Given the description of an element on the screen output the (x, y) to click on. 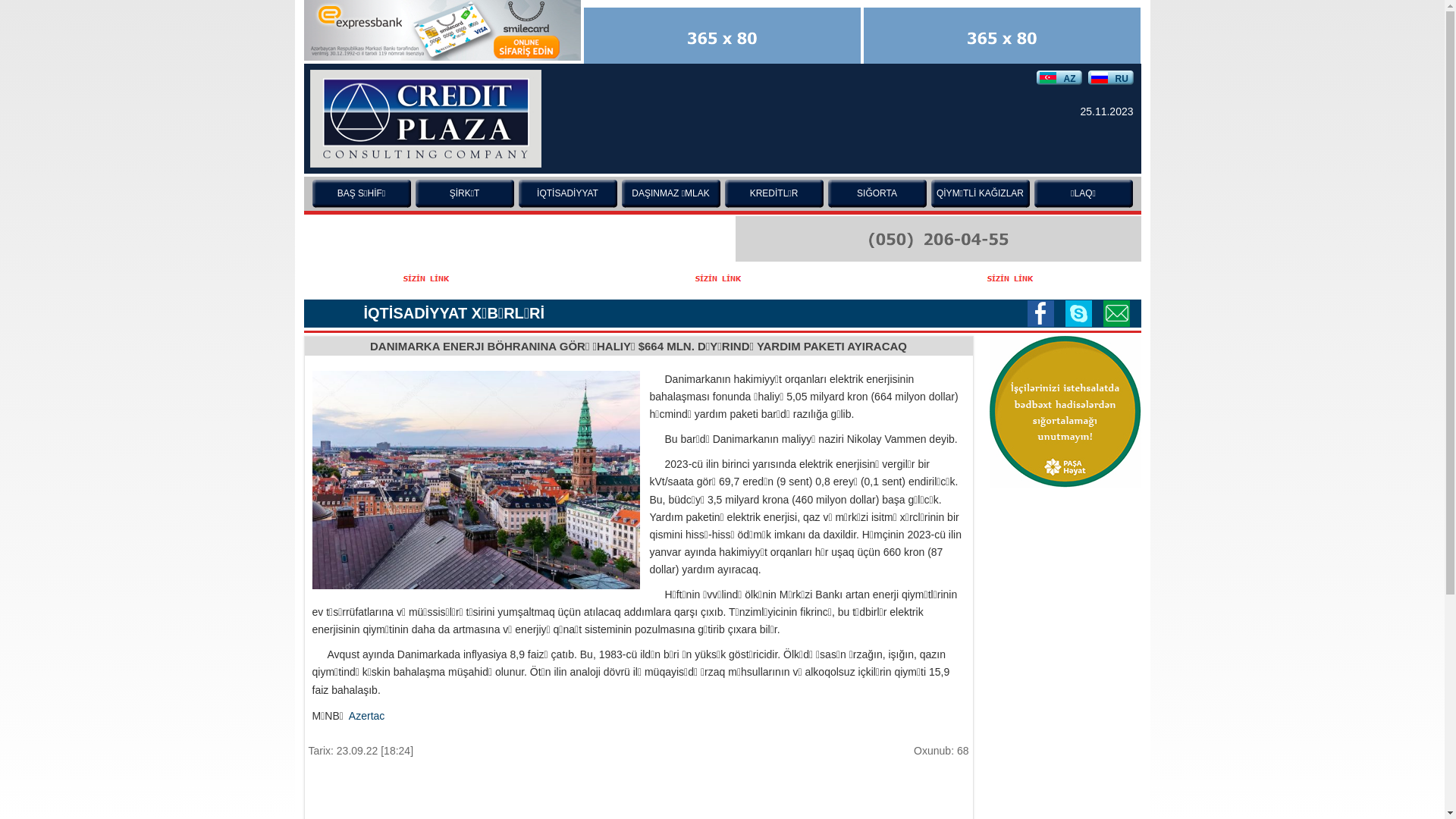
RU Element type: text (1109, 77)
AZ Element type: text (1058, 77)
Azertac Element type: text (366, 715)
